Given the description of an element on the screen output the (x, y) to click on. 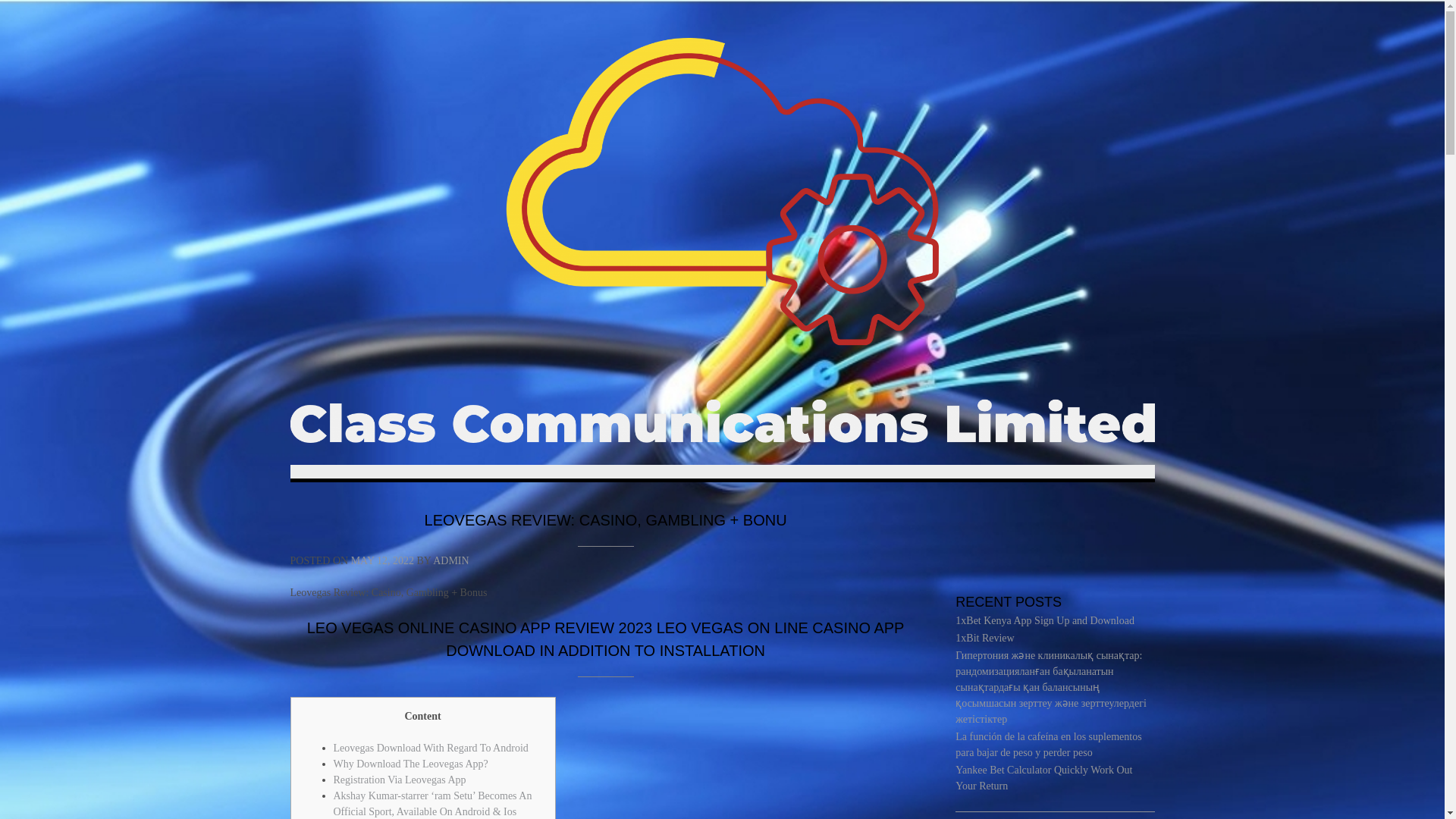
Registration Via Leovegas App (399, 779)
MAY 12, 2022 (381, 560)
Leovegas Download With Regard To Android (430, 747)
1xBet Kenya App Sign Up and Download (1044, 620)
ADMIN (450, 560)
Why Download The Leovegas App? (410, 763)
